Given the description of an element on the screen output the (x, y) to click on. 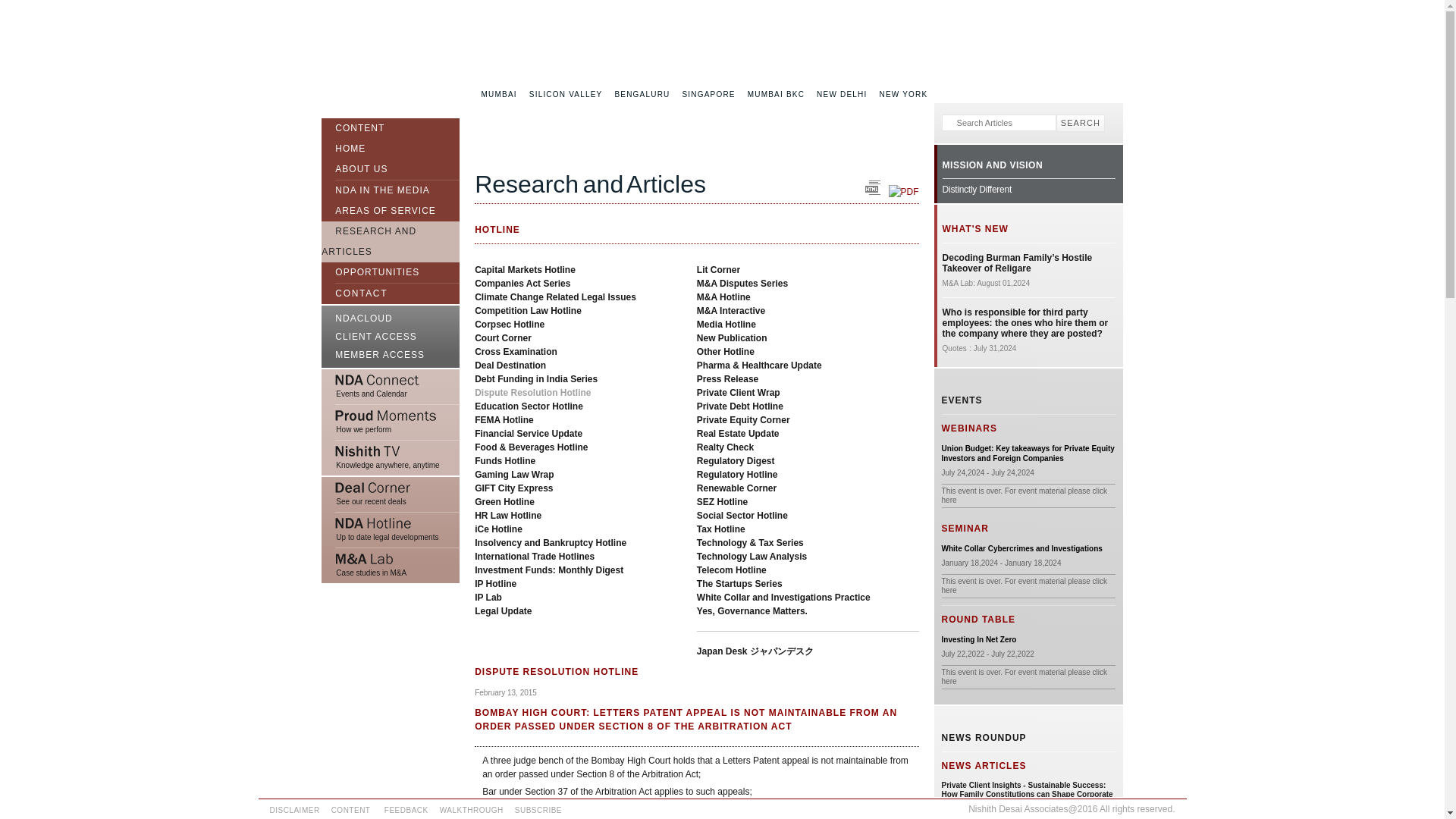
How we perform (390, 422)
Up to date legal developments (390, 529)
Events and Calendar (390, 386)
MEMBER ACCESS (390, 356)
ABOUT US (354, 170)
Webinar (1028, 453)
NEW YORK (902, 94)
SINGAPORE (708, 94)
CONTENT (352, 125)
CLIENT ACCESS (390, 336)
SILICON VALLEY (565, 94)
See our recent deals (390, 494)
RESEARCH AND ARTICLES (368, 241)
CONTACT (354, 293)
HOME (343, 148)
